Given the description of an element on the screen output the (x, y) to click on. 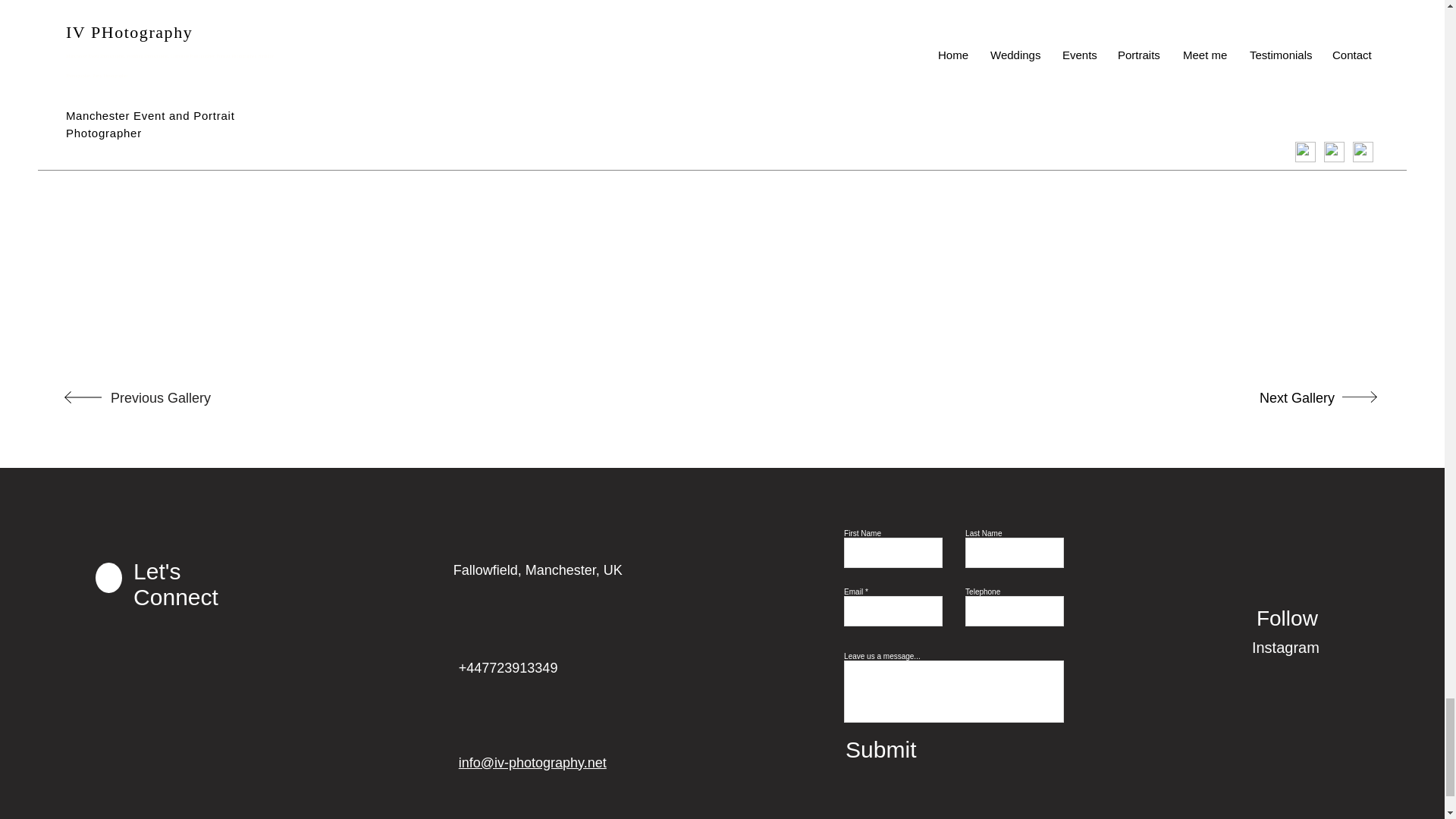
Submit (949, 748)
Next Gallery (1284, 399)
Instagram (1305, 647)
Previous Gallery (160, 399)
